Given the description of an element on the screen output the (x, y) to click on. 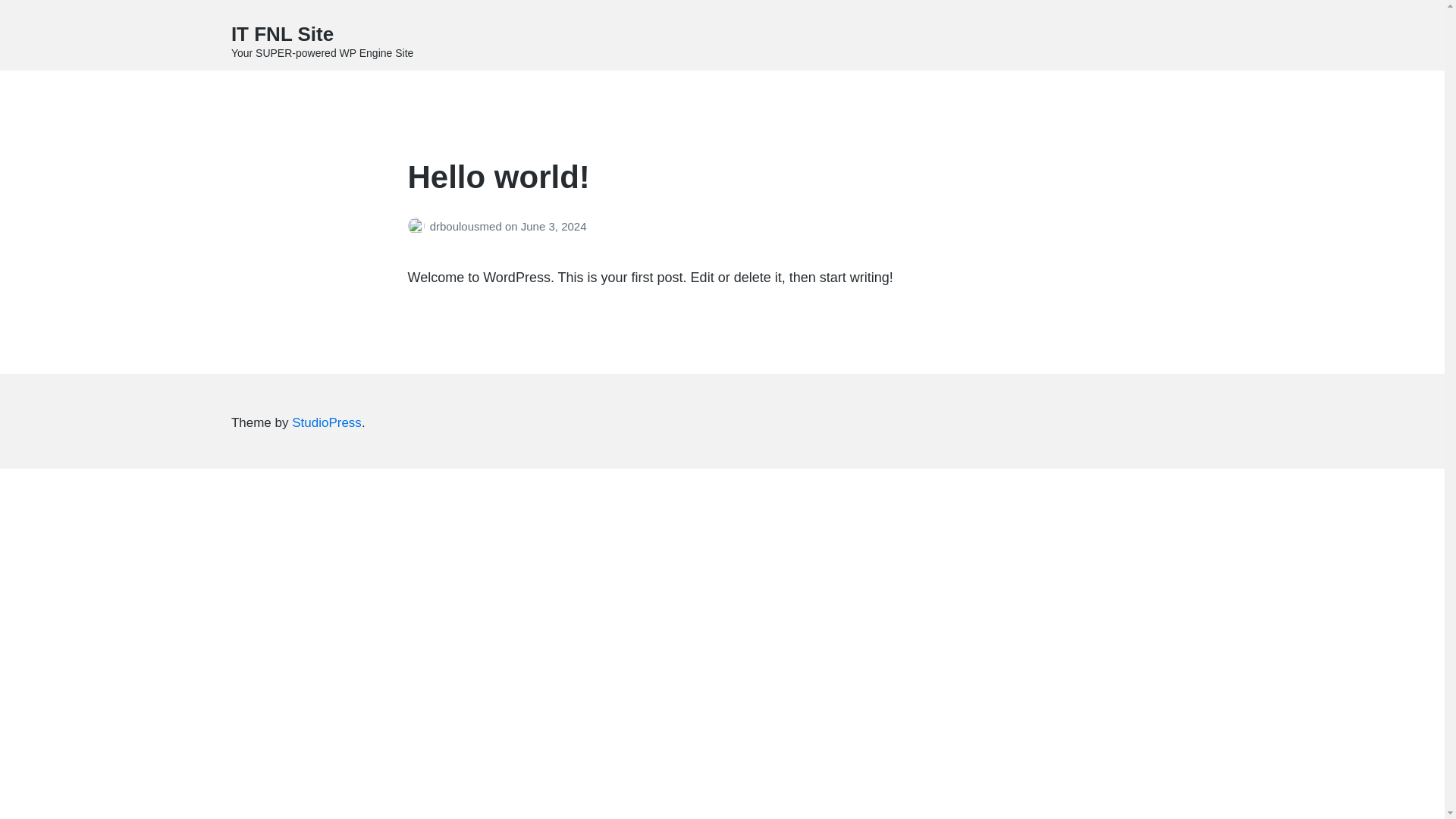
drboulousmed (467, 226)
Posts by drboulousmed (418, 226)
Hello world! (498, 176)
IT FNL Site (282, 33)
StudioPress (326, 423)
